Given the description of an element on the screen output the (x, y) to click on. 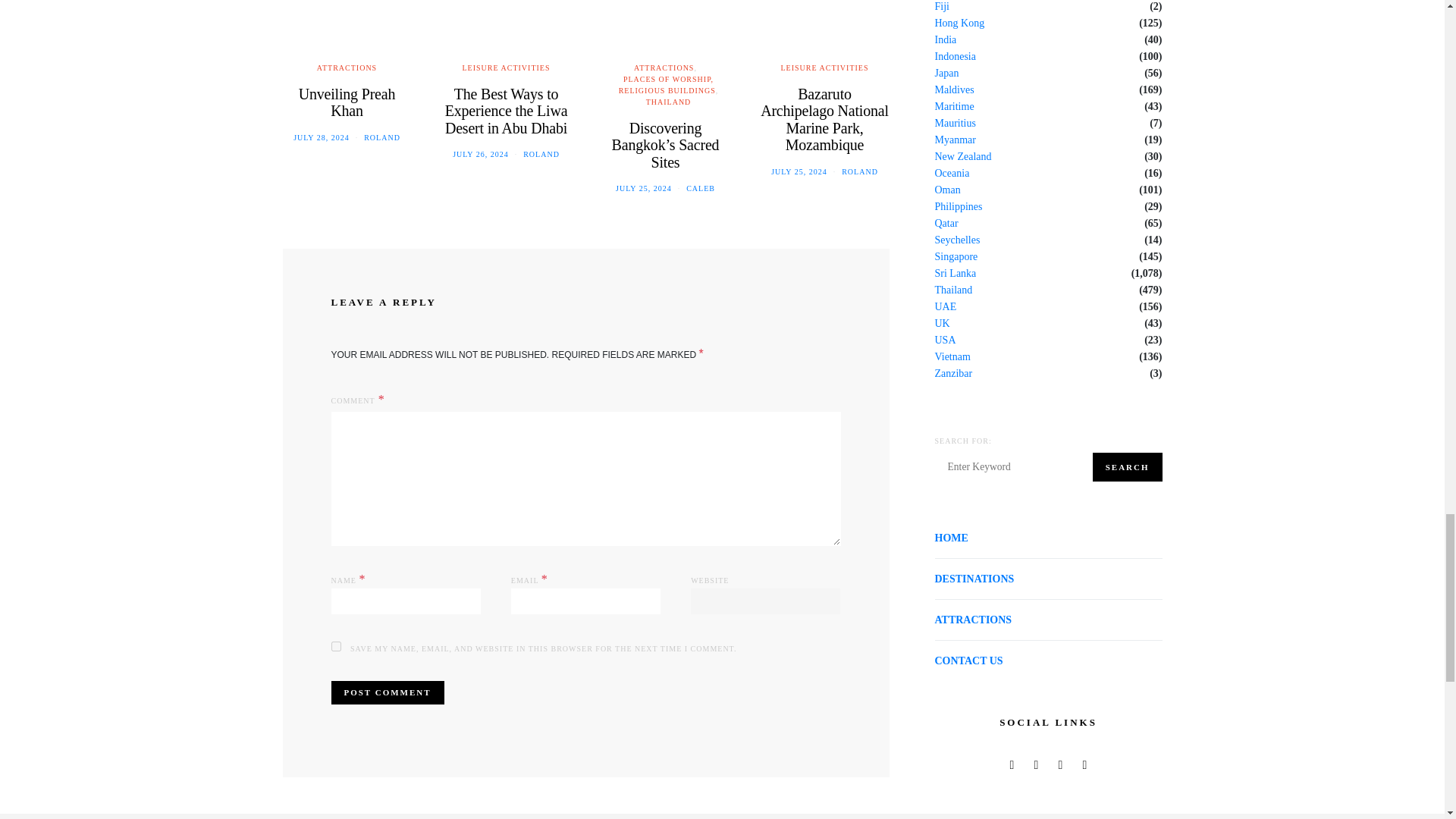
Post Comment (387, 692)
View all posts by roland (540, 153)
yes (335, 646)
View all posts by roland (382, 137)
View all posts by caleb (699, 188)
View all posts by roland (859, 171)
